Given the description of an element on the screen output the (x, y) to click on. 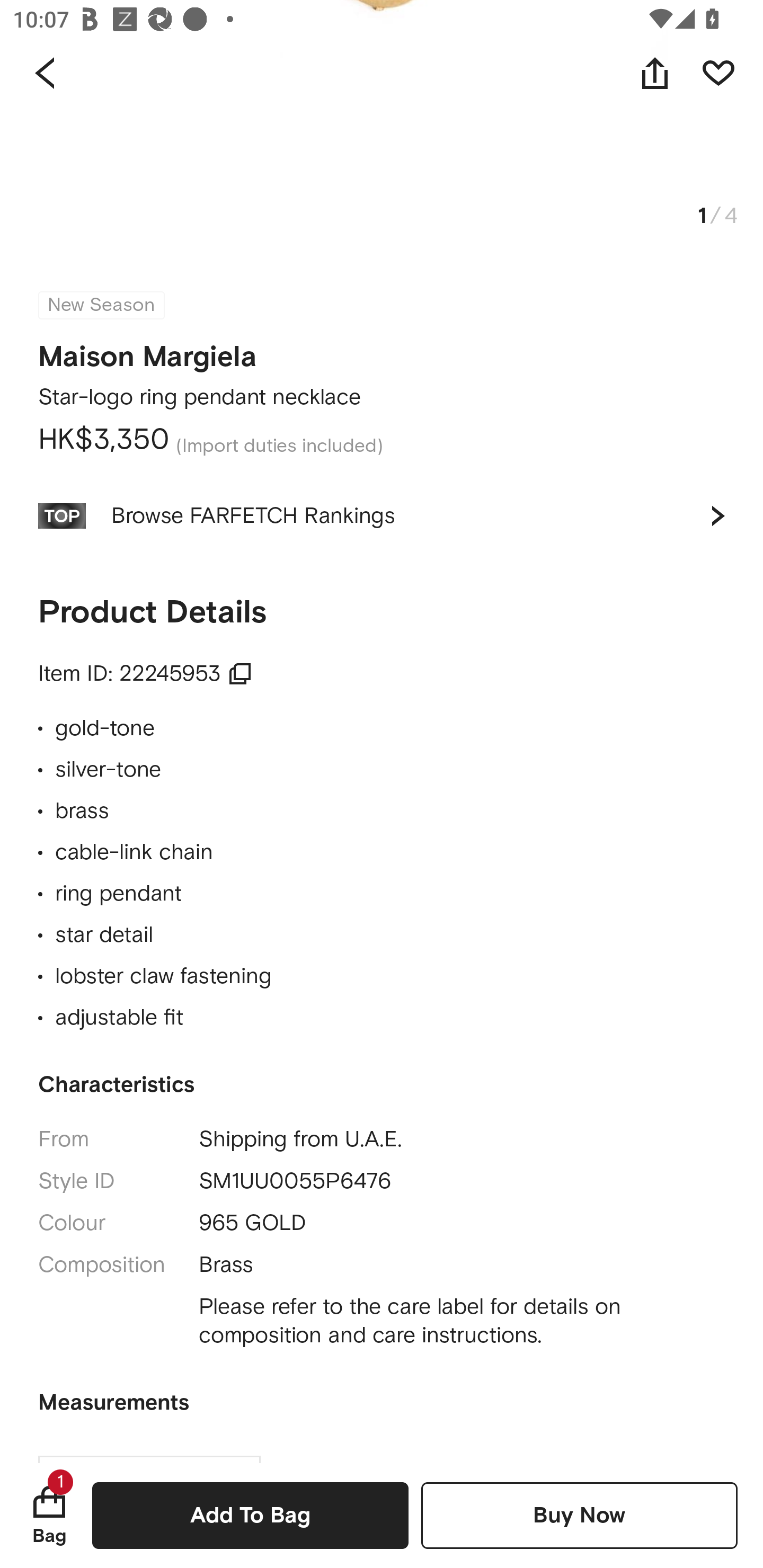
Maison Margiela (147, 350)
Browse FARFETCH Rankings (381, 515)
Item ID: 22245953 (145, 674)
Bag 1 (49, 1515)
Add To Bag (250, 1515)
Buy Now (579, 1515)
